Given the description of an element on the screen output the (x, y) to click on. 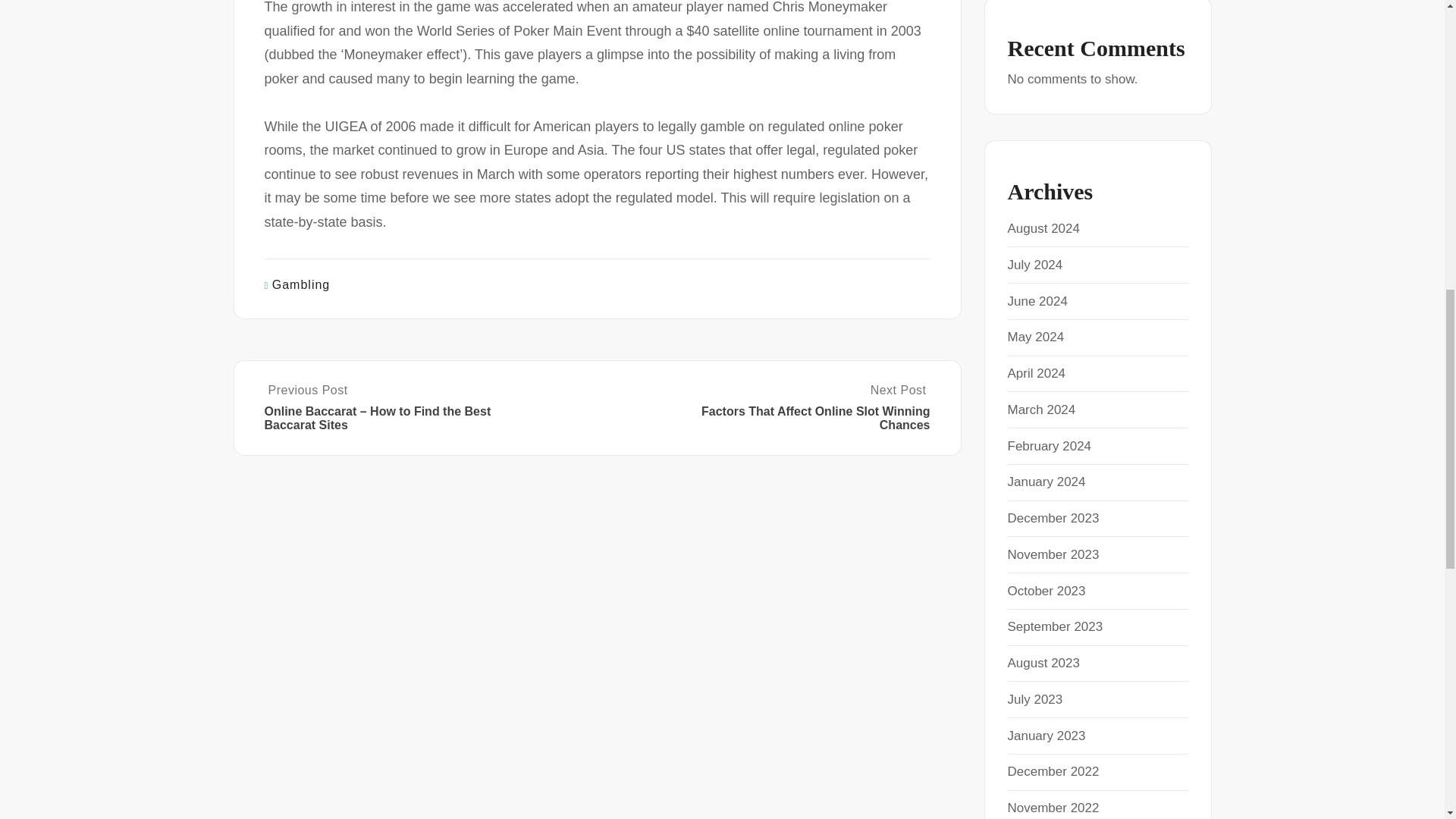
June 2024 (1037, 301)
January 2023 (1045, 735)
September 2023 (1054, 626)
August 2024 (1042, 228)
October 2023 (1045, 590)
December 2022 (1053, 771)
February 2024 (1048, 445)
August 2023 (1042, 663)
January 2024 (1045, 481)
December 2023 (1053, 518)
